Given the description of an element on the screen output the (x, y) to click on. 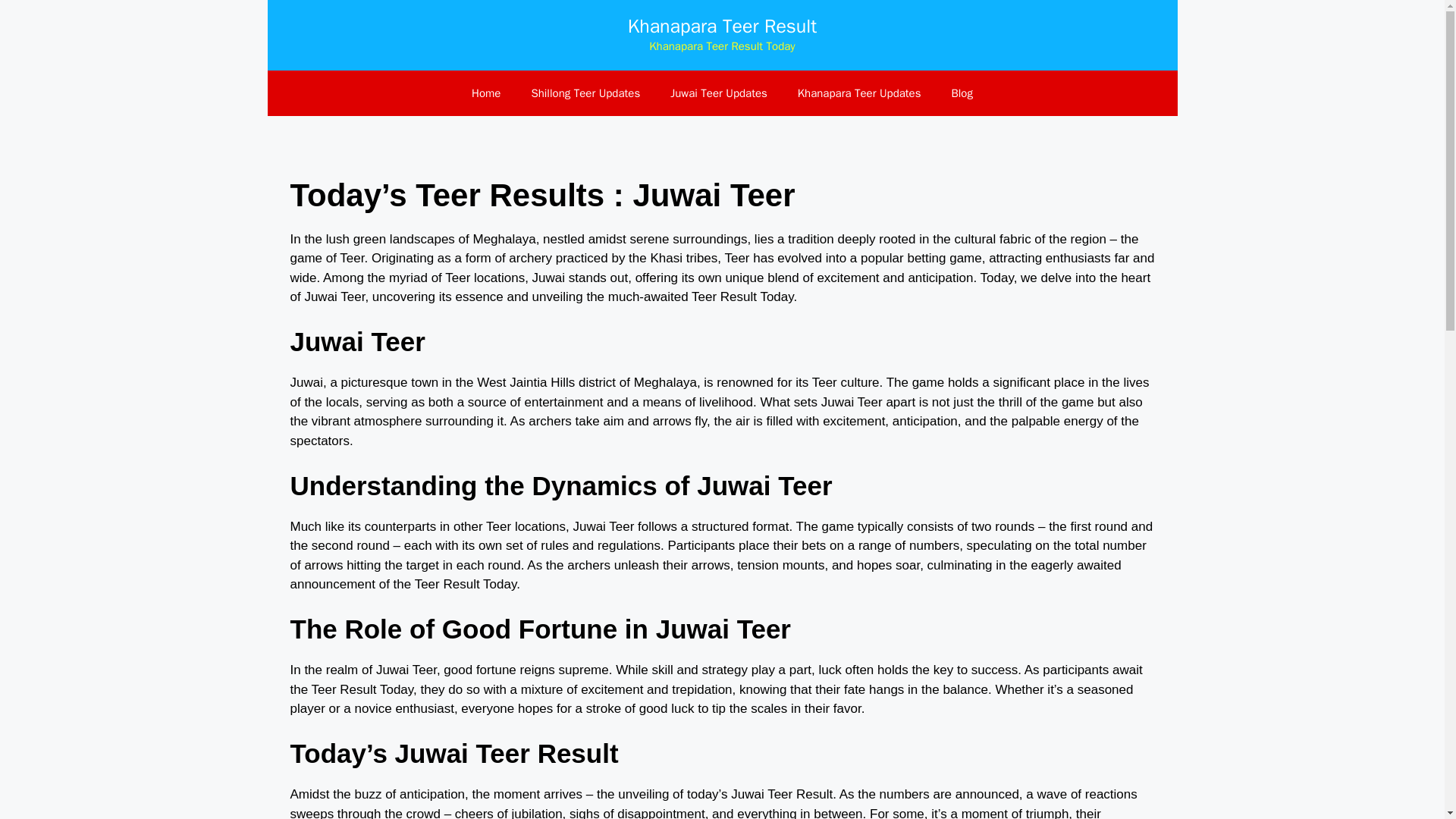
Blog (961, 92)
Juwai Teer Updates (719, 92)
Home (486, 92)
Khanapara Teer Result (721, 25)
Shillong Teer Updates (585, 92)
Khanapara Teer Updates (859, 92)
